Given the description of an element on the screen output the (x, y) to click on. 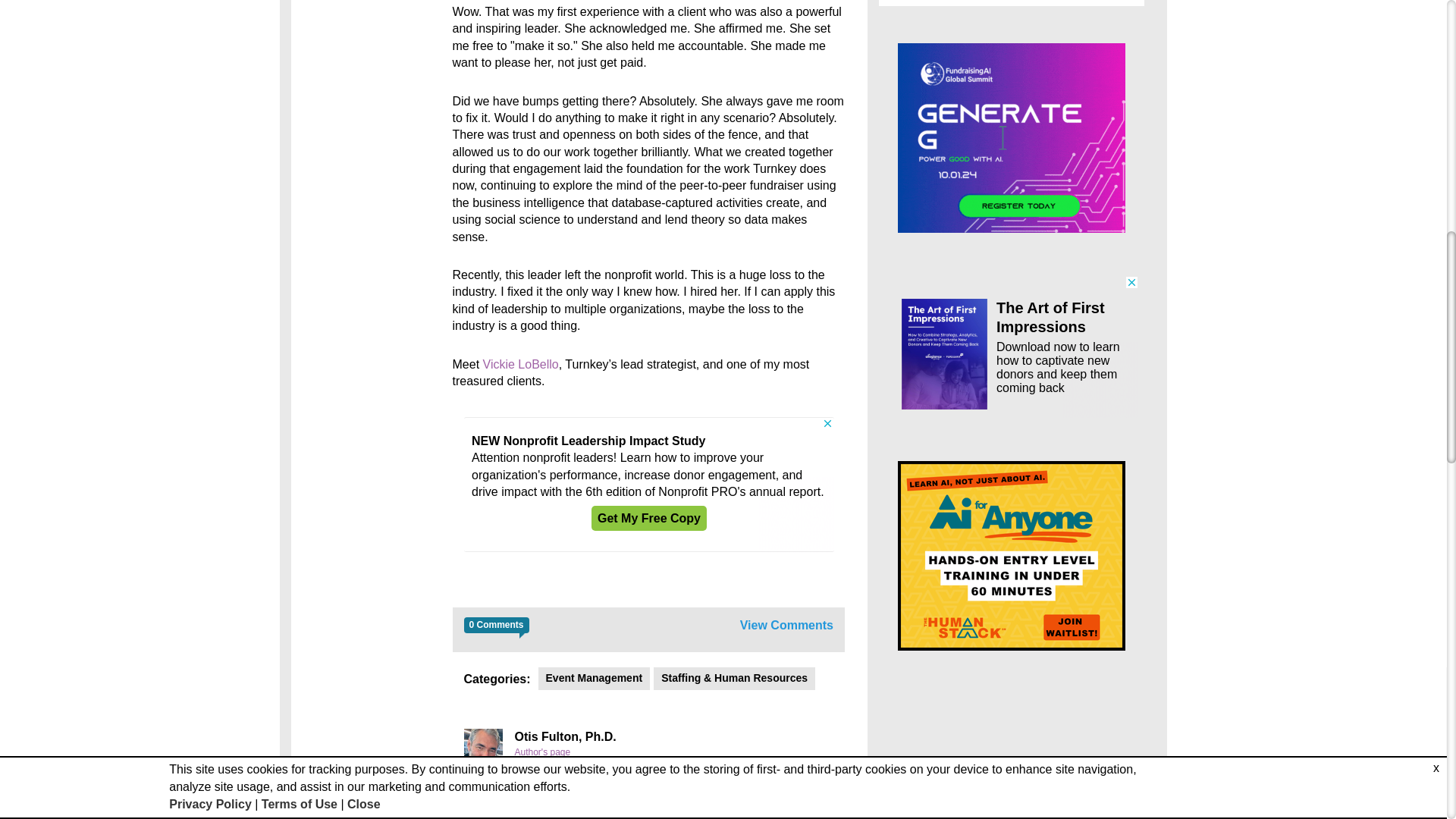
Opens in a new window (617, 803)
3rd party ad content (649, 484)
Opens in a new window (646, 815)
Opens in a new window (521, 364)
Opens in a new window (640, 808)
